Given the description of an element on the screen output the (x, y) to click on. 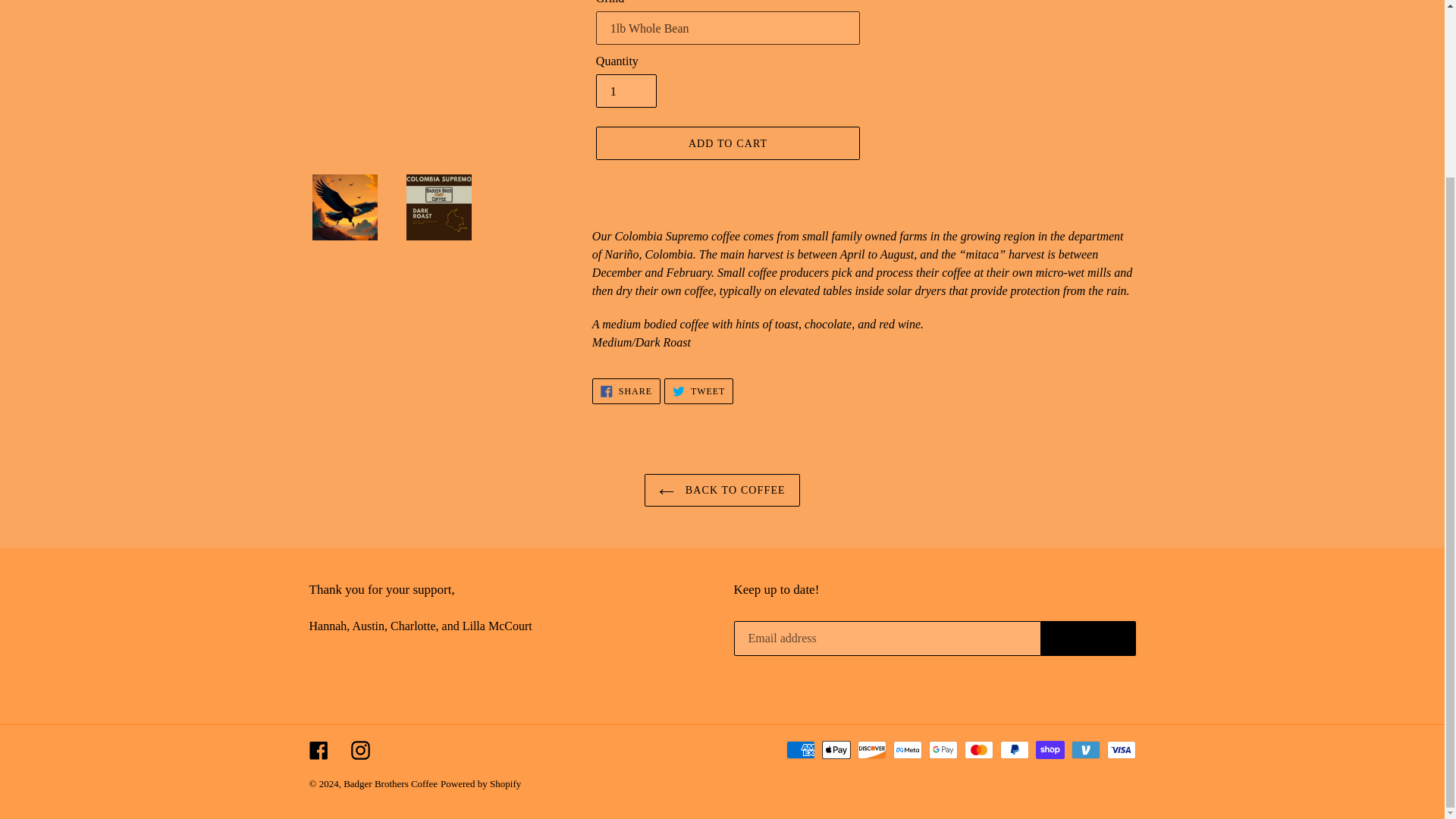
SUBSCRIBE (626, 391)
Instagram (1088, 638)
ADD TO CART (359, 750)
BACK TO COFFEE (727, 142)
1 (722, 490)
Facebook (625, 90)
